Given the description of an element on the screen output the (x, y) to click on. 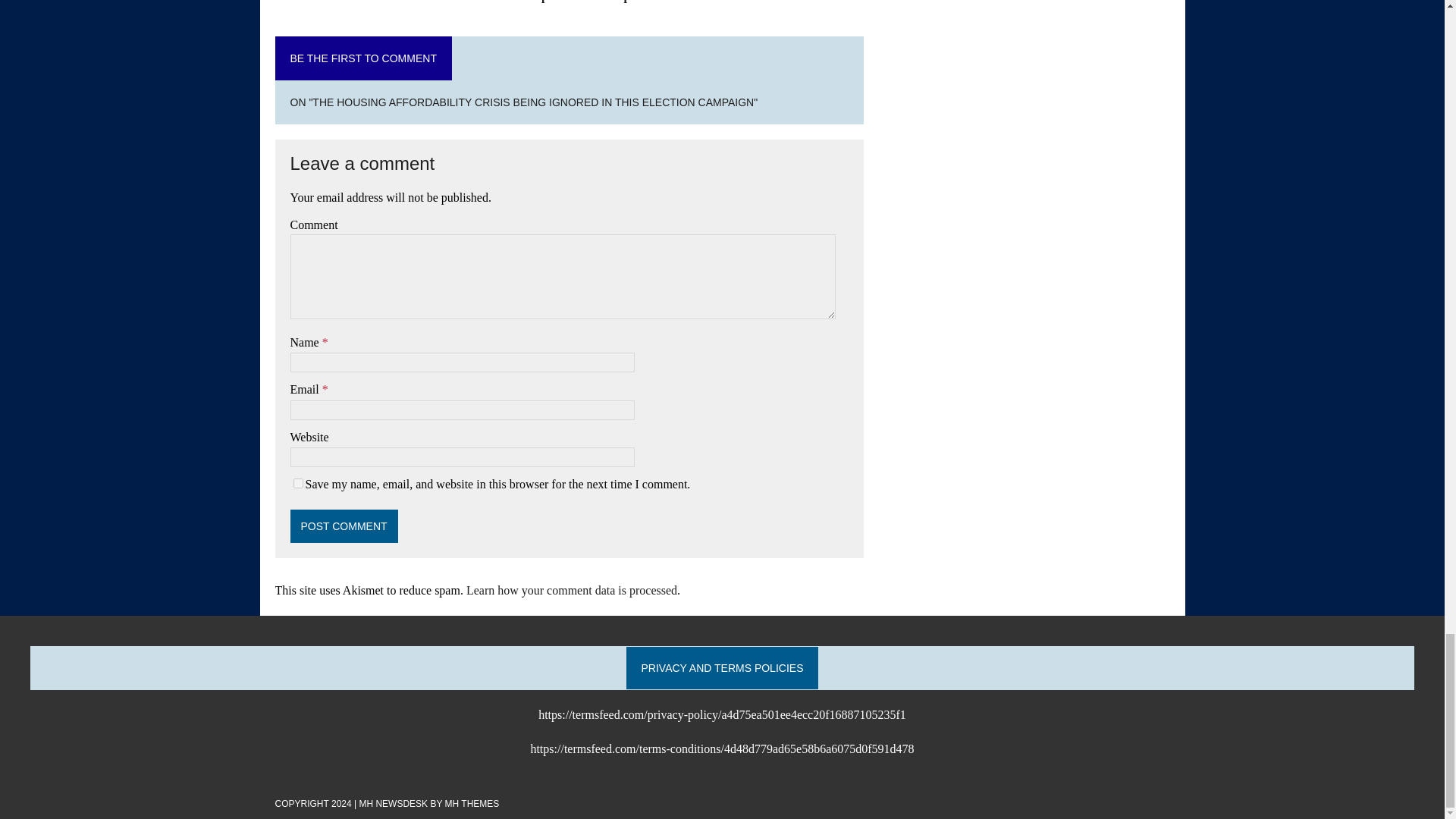
Next post (630, 1)
Previous post (518, 1)
yes (297, 483)
Post Comment (343, 525)
Post Comment (343, 525)
Learn how your comment data is processed (571, 590)
